Given the description of an element on the screen output the (x, y) to click on. 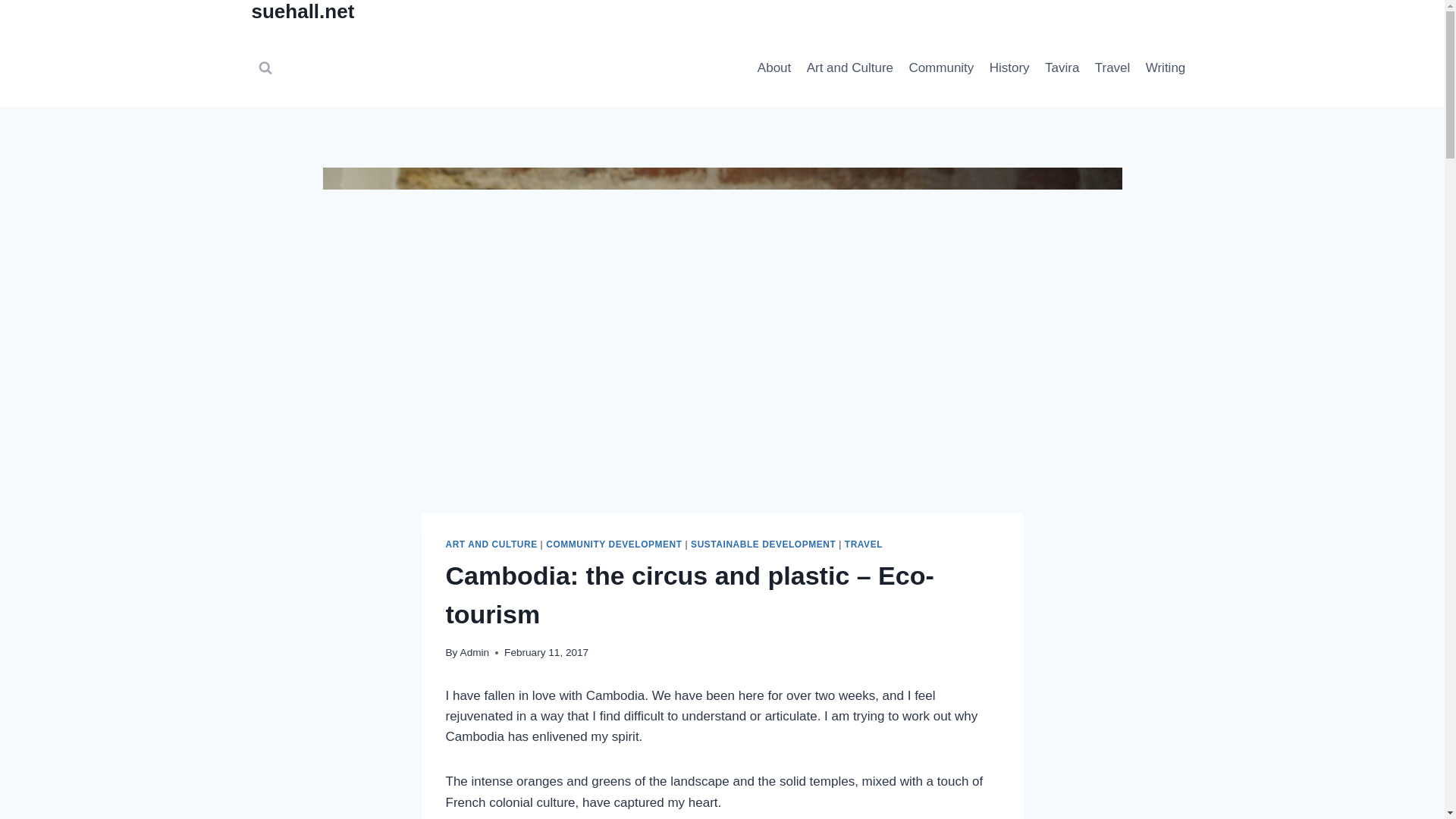
Writing (1165, 67)
Tavira (1061, 67)
TRAVEL (863, 543)
ART AND CULTURE (491, 543)
Admin (474, 652)
History (1008, 67)
Art and Culture (849, 67)
Community (941, 67)
Travel (1112, 67)
suehall.net (303, 14)
